Given the description of an element on the screen output the (x, y) to click on. 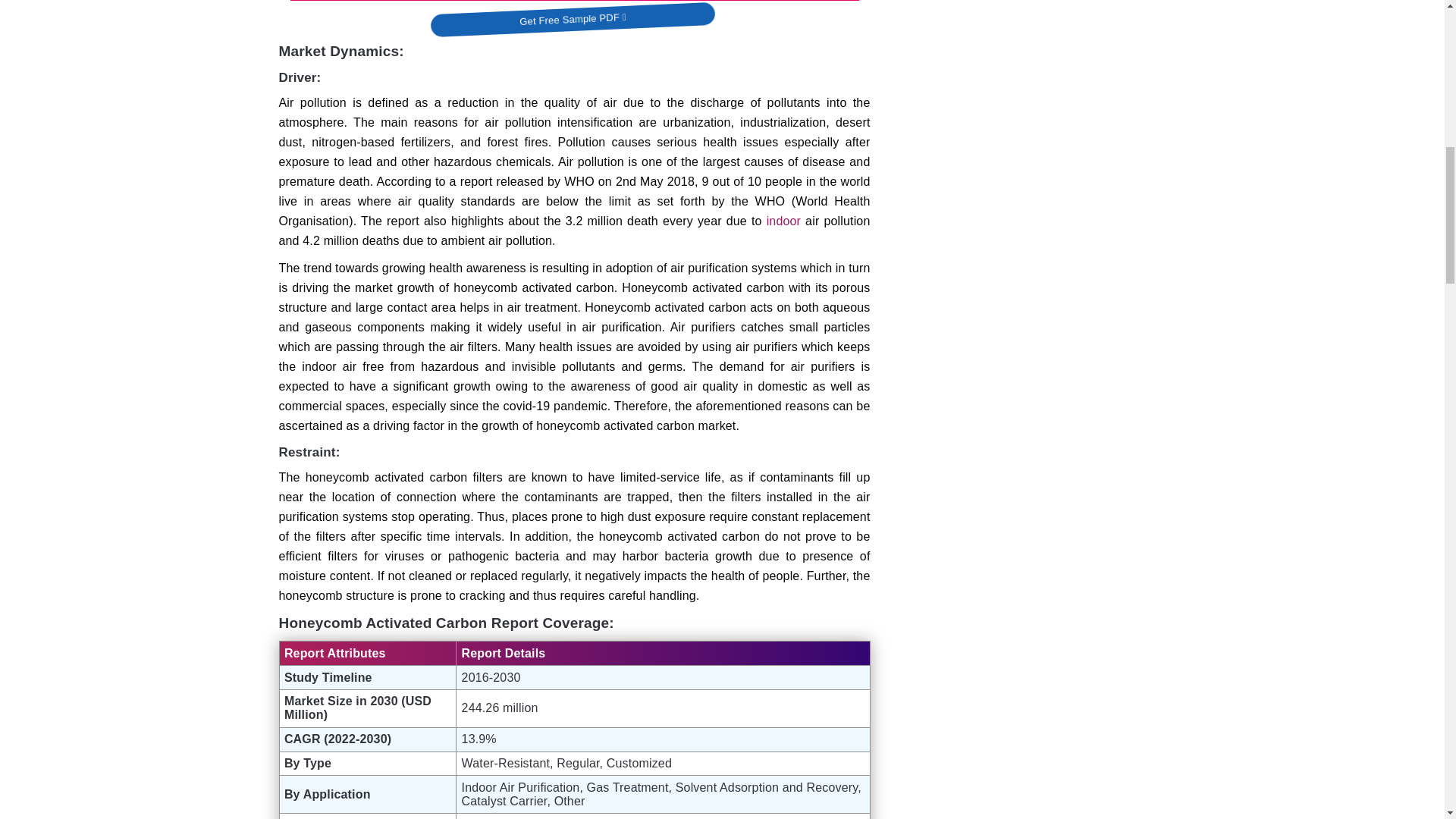
indoor (783, 220)
Get Free Sample PDF (571, 12)
